Given the description of an element on the screen output the (x, y) to click on. 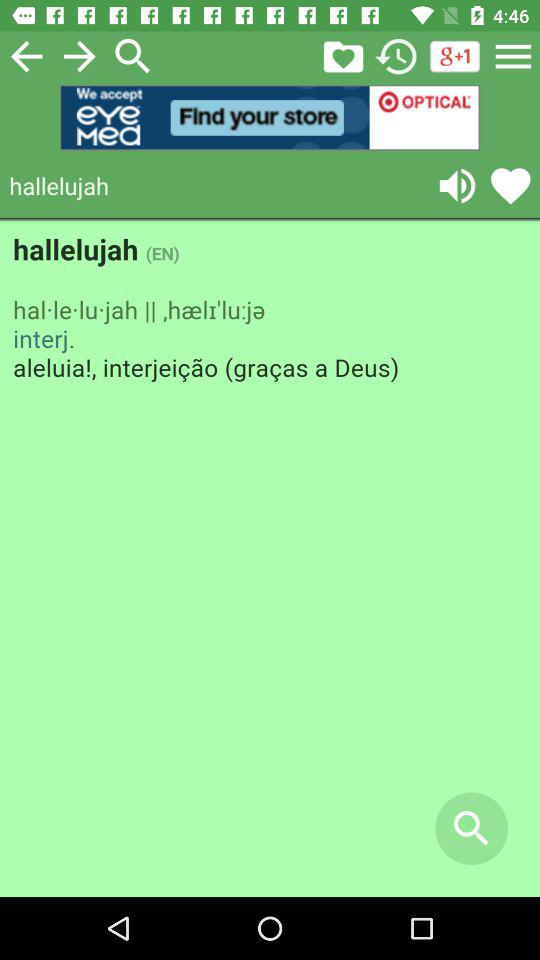
volume option (457, 185)
